Given the description of an element on the screen output the (x, y) to click on. 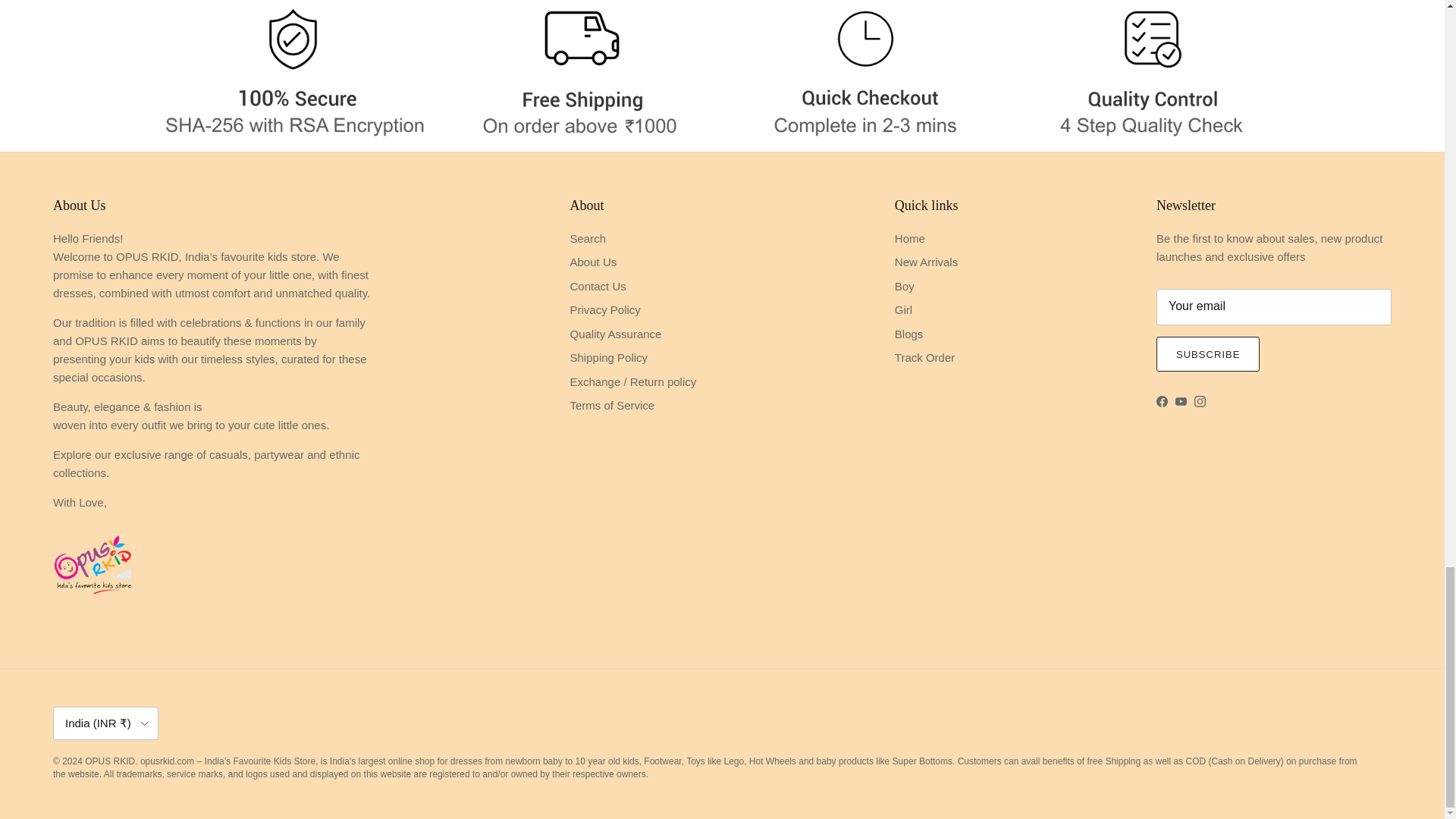
OPUS RKID on Facebook (1161, 401)
OPUS RKID on YouTube (1180, 401)
OPUS RKID on Instagram (1199, 401)
